Given the description of an element on the screen output the (x, y) to click on. 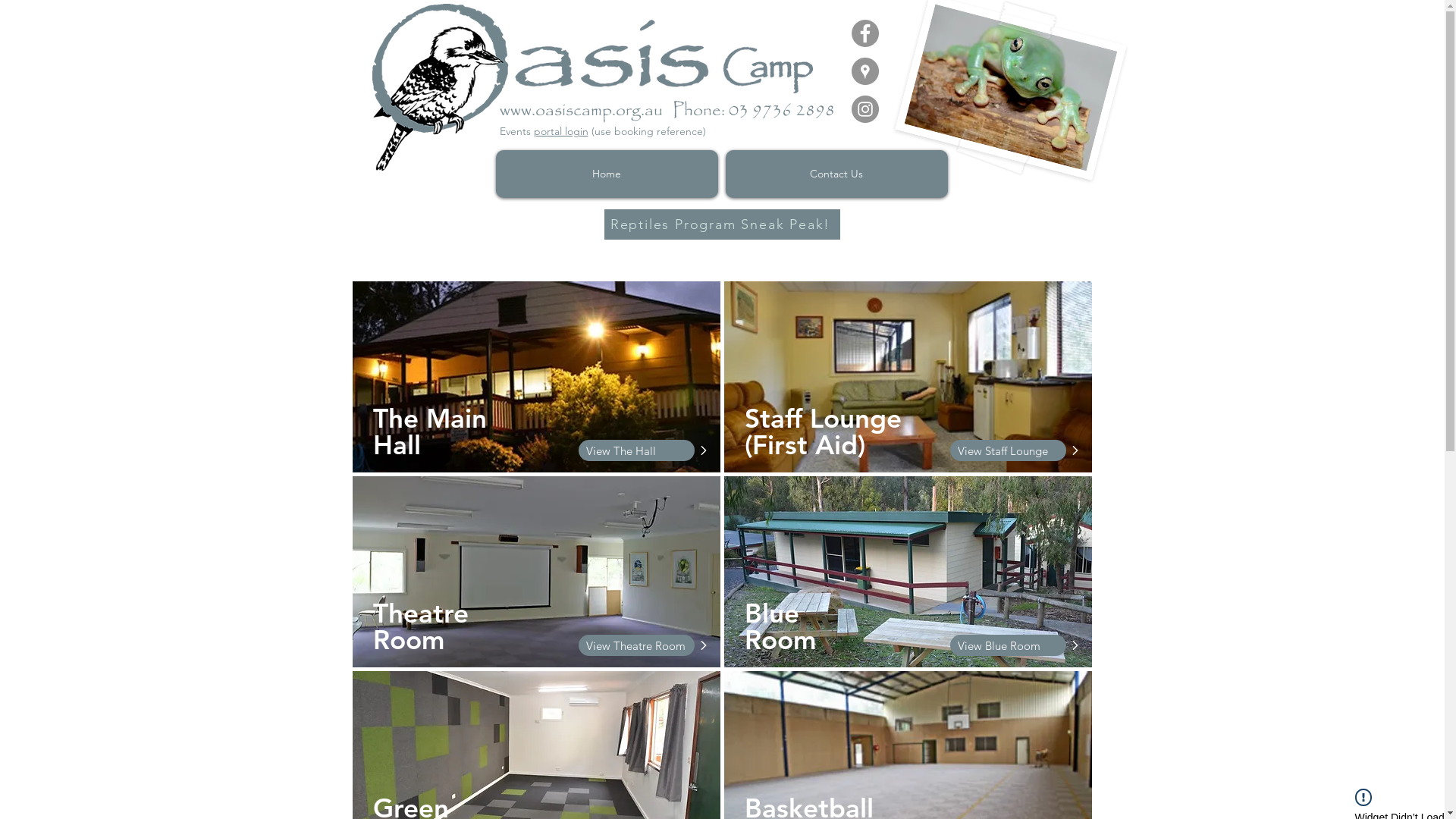
Reptiles Program Sneak Peak! Element type: text (721, 224)
Events portal login (use booking reference) Element type: text (601, 131)
View Blue Room Element type: text (1008, 644)
View Theatre Room Element type: text (636, 644)
www.oasiscamp.org.au Element type: text (580, 110)
Contact Us Element type: text (835, 173)
Home Element type: text (606, 173)
View The Hall Element type: text (636, 450)
View Staff Lounge Element type: text (1008, 450)
